Given the description of an element on the screen output the (x, y) to click on. 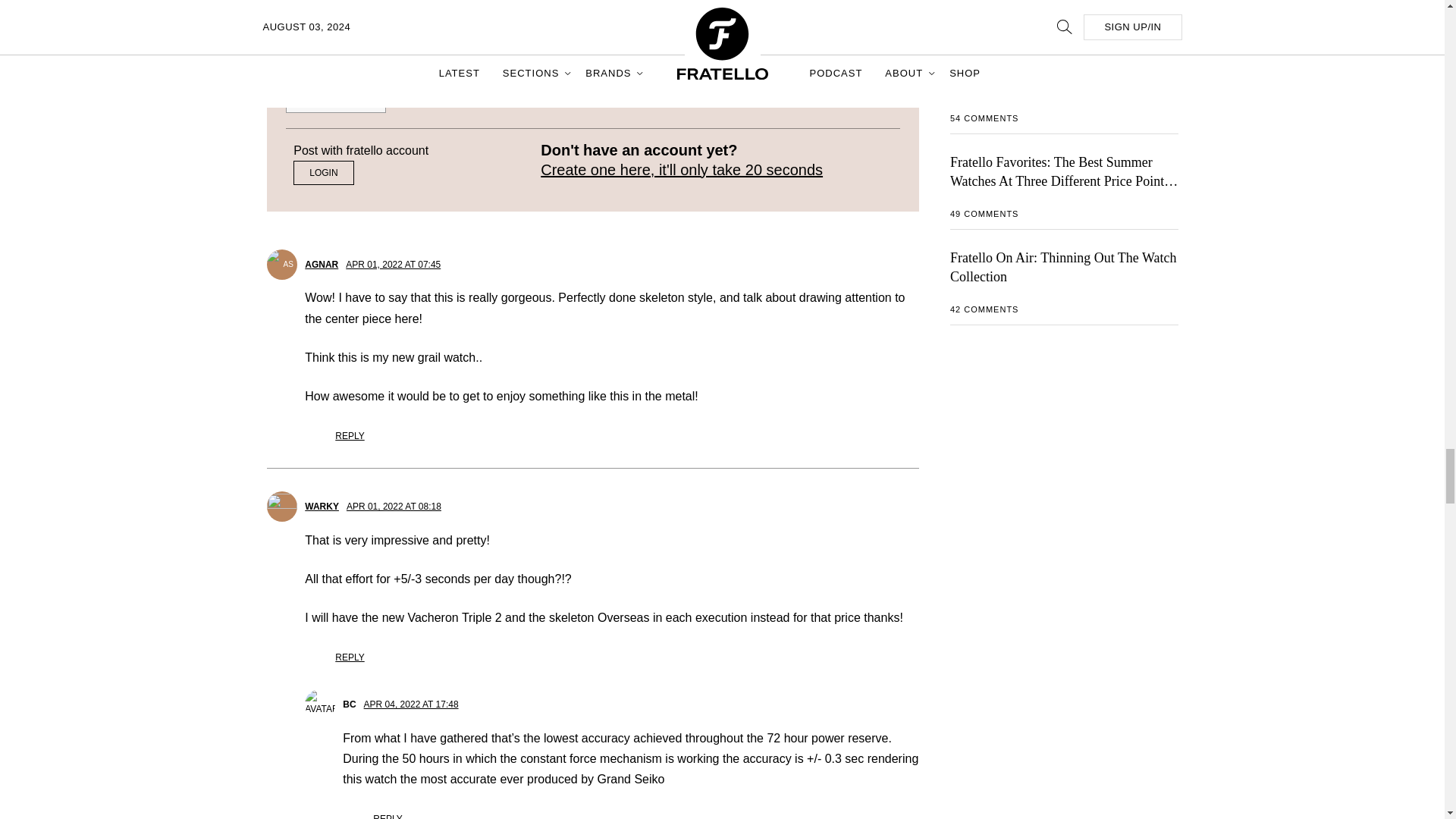
Add comment (335, 98)
